Given the description of an element on the screen output the (x, y) to click on. 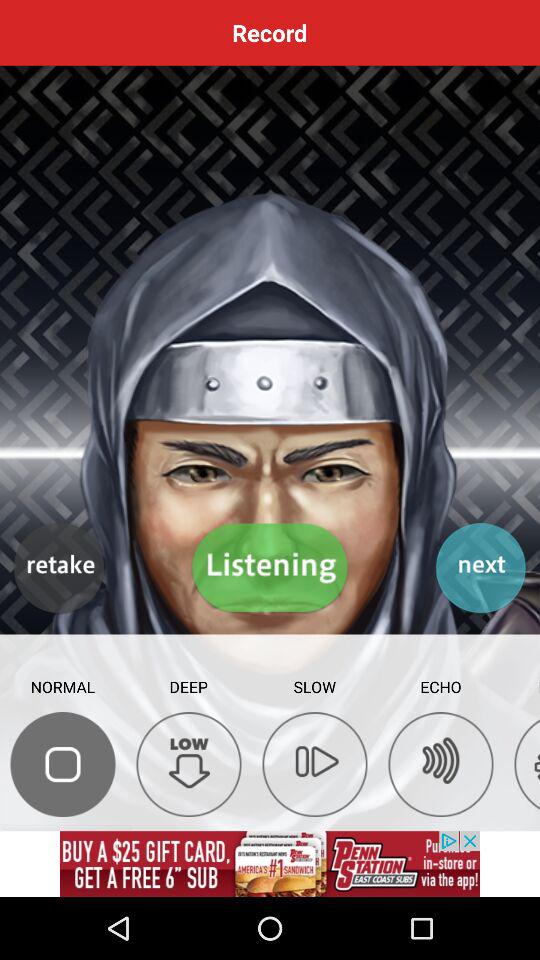
slow down the sound (314, 764)
